Given the description of an element on the screen output the (x, y) to click on. 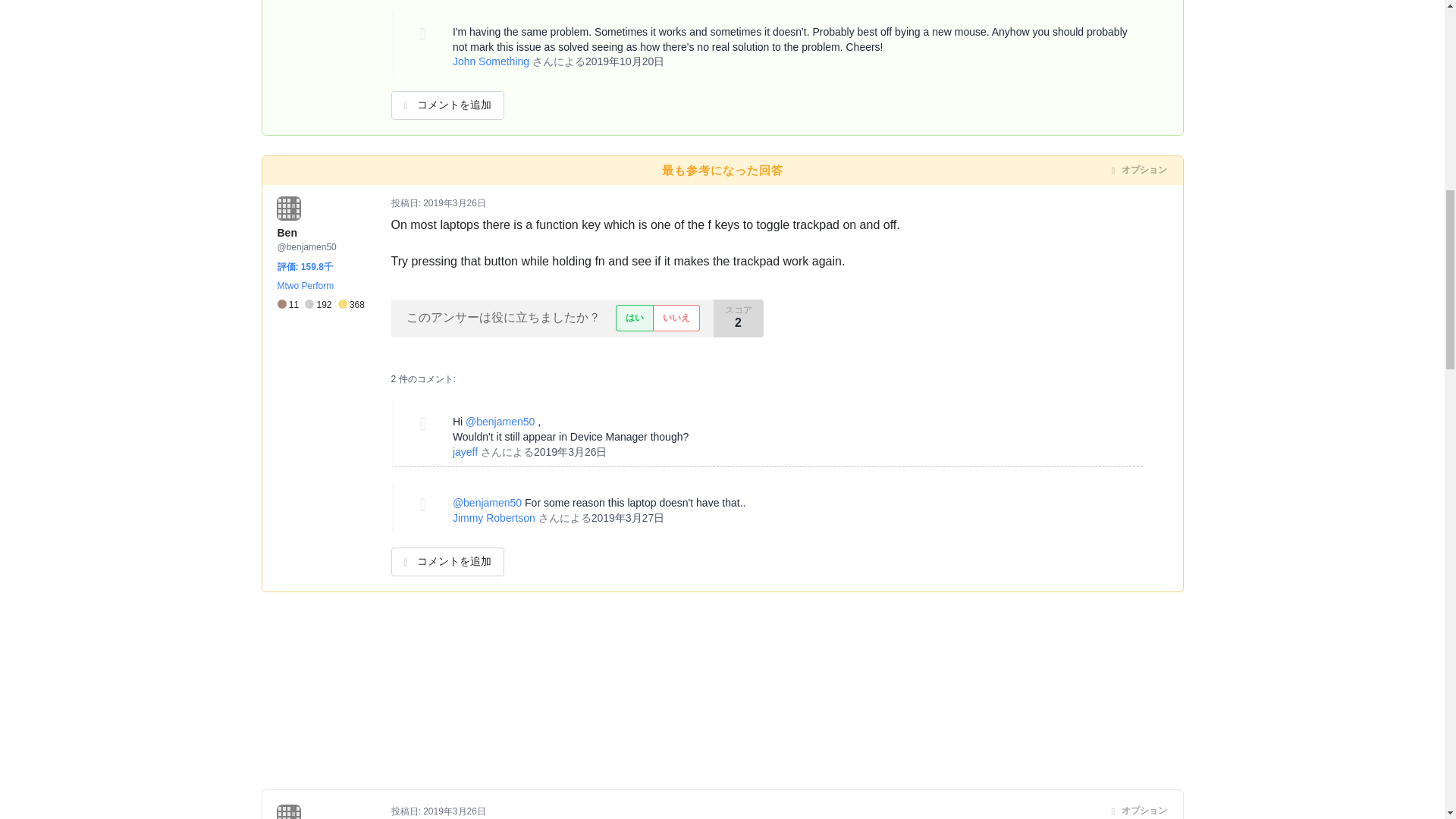
Wed, 27 Mar 2019 08:14:56 -0700 (628, 517)
Tue, 26 Mar 2019 21:16:22 -0700 (454, 203)
Tue, 26 Mar 2019 21:28:26 -0700 (570, 451)
Sun, 20 Oct 2019 10:57:20 -0700 (624, 61)
Tue, 26 Mar 2019 21:27:26 -0700 (454, 810)
